Given the description of an element on the screen output the (x, y) to click on. 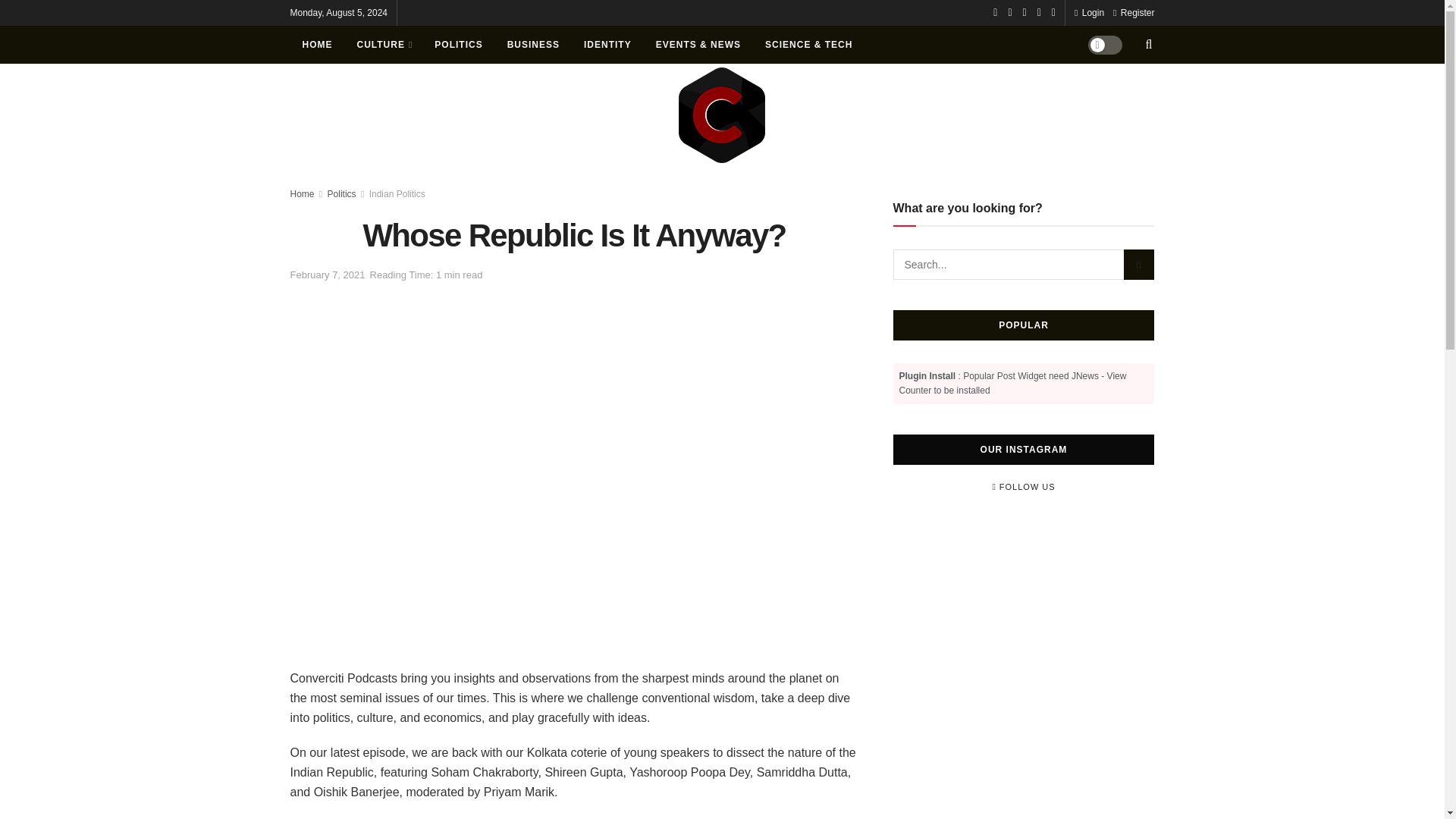
HOME (316, 44)
CULTURE (382, 44)
IDENTITY (607, 44)
Advertisement (1023, 605)
POLITICS (458, 44)
Login (1088, 12)
Register (1133, 12)
BUSINESS (533, 44)
